Given the description of an element on the screen output the (x, y) to click on. 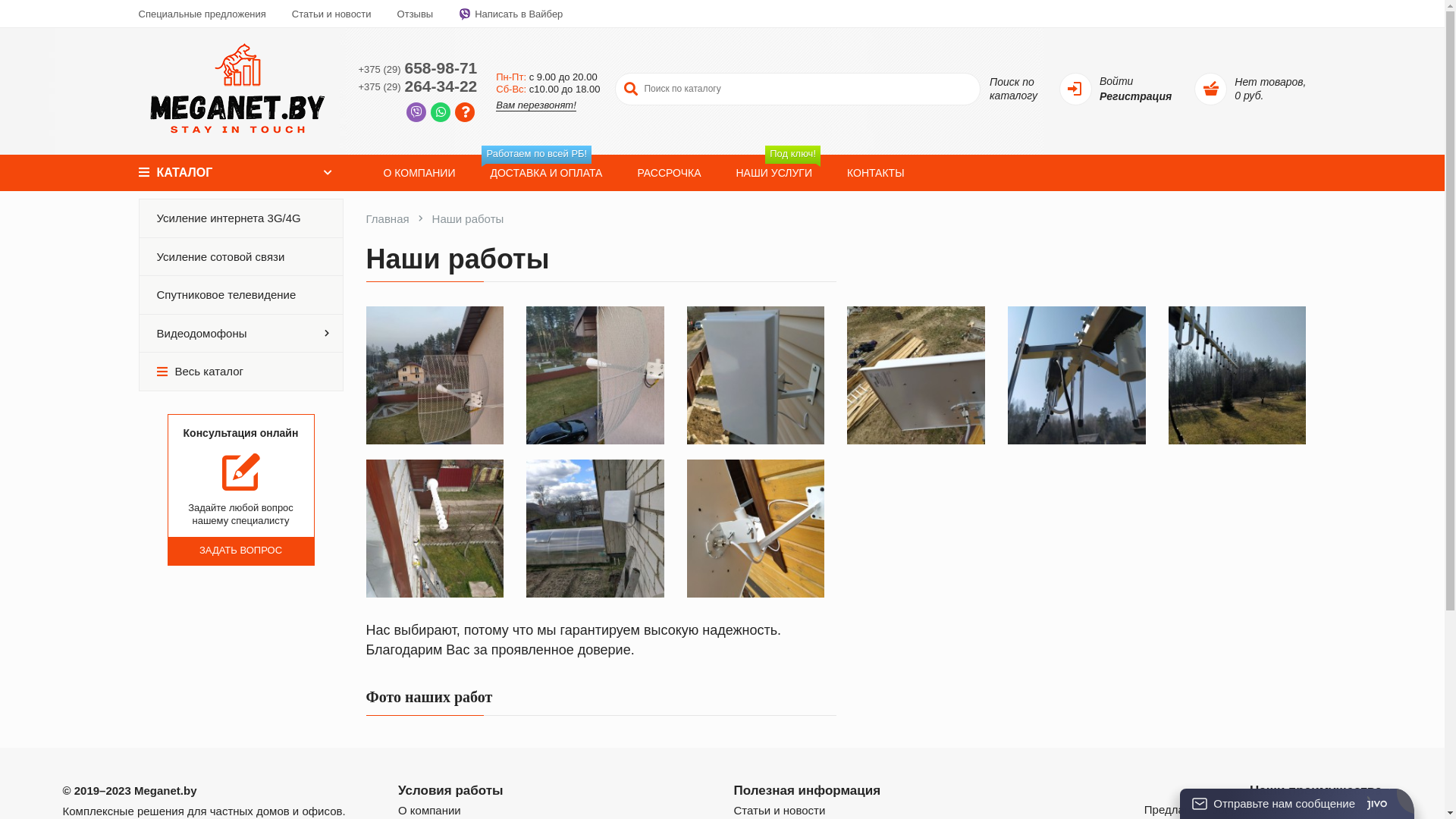
+375 (29)
264-34-22 Element type: text (416, 85)
+375 (29)
658-98-71 Element type: text (416, 67)
